Given the description of an element on the screen output the (x, y) to click on. 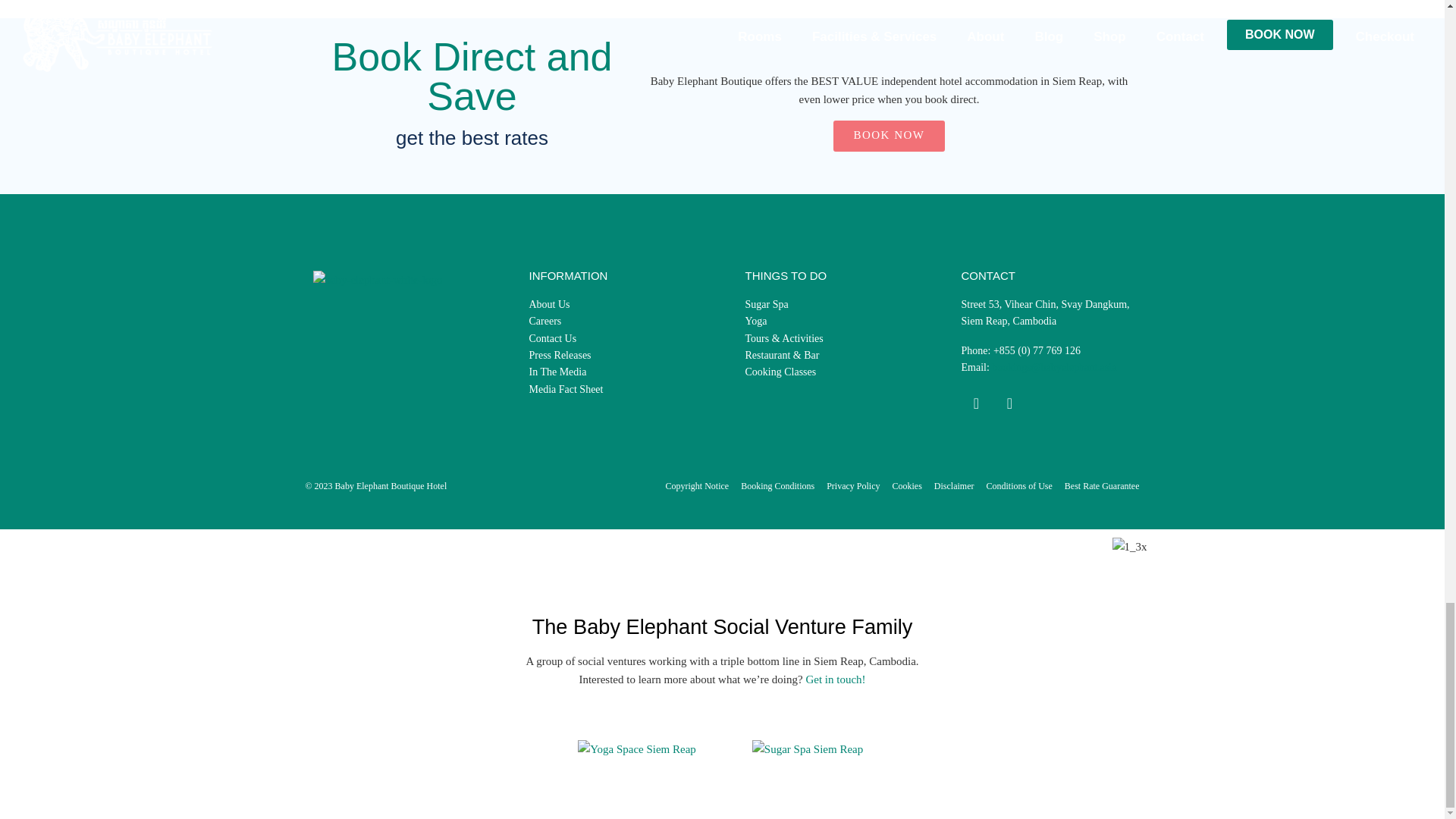
baby-elephant-white-logo (377, 280)
Yoga Space Siem Reap (636, 240)
Sugar Spa Siem Reap (807, 240)
